Given the description of an element on the screen output the (x, y) to click on. 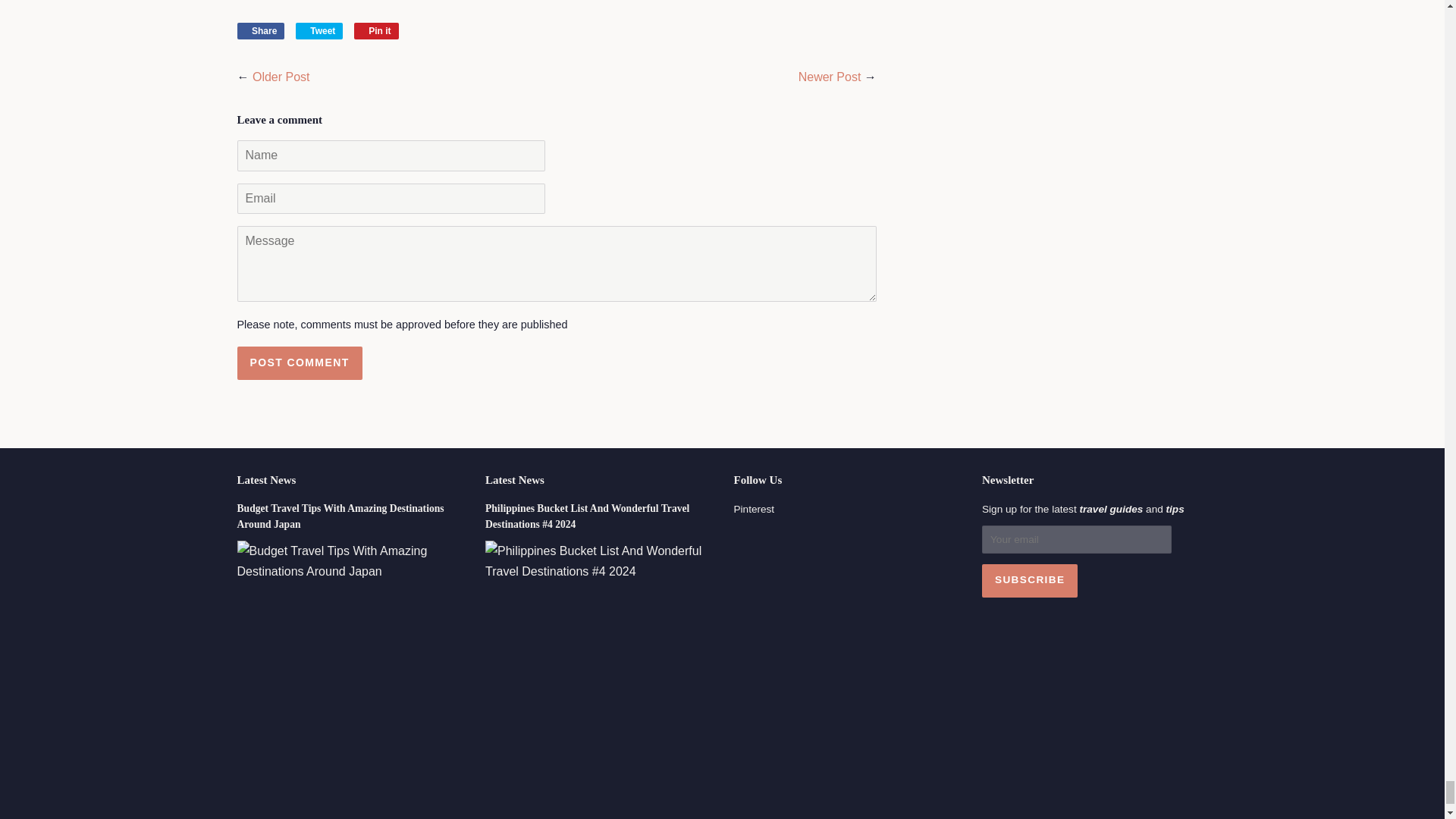
Subscribe (1029, 580)
Post comment (298, 363)
Tweet on Twitter (319, 30)
Newer Post (829, 76)
Budget Travel Tips With Amazing Destinations Around Japan (339, 516)
Latest News (265, 480)
Post comment (298, 363)
TravelOpel.Com on Pinterest (753, 509)
Older Post (280, 76)
Pin on Pinterest (375, 30)
Pinterest (753, 509)
Share on Facebook (259, 30)
Latest News (514, 480)
